Given the description of an element on the screen output the (x, y) to click on. 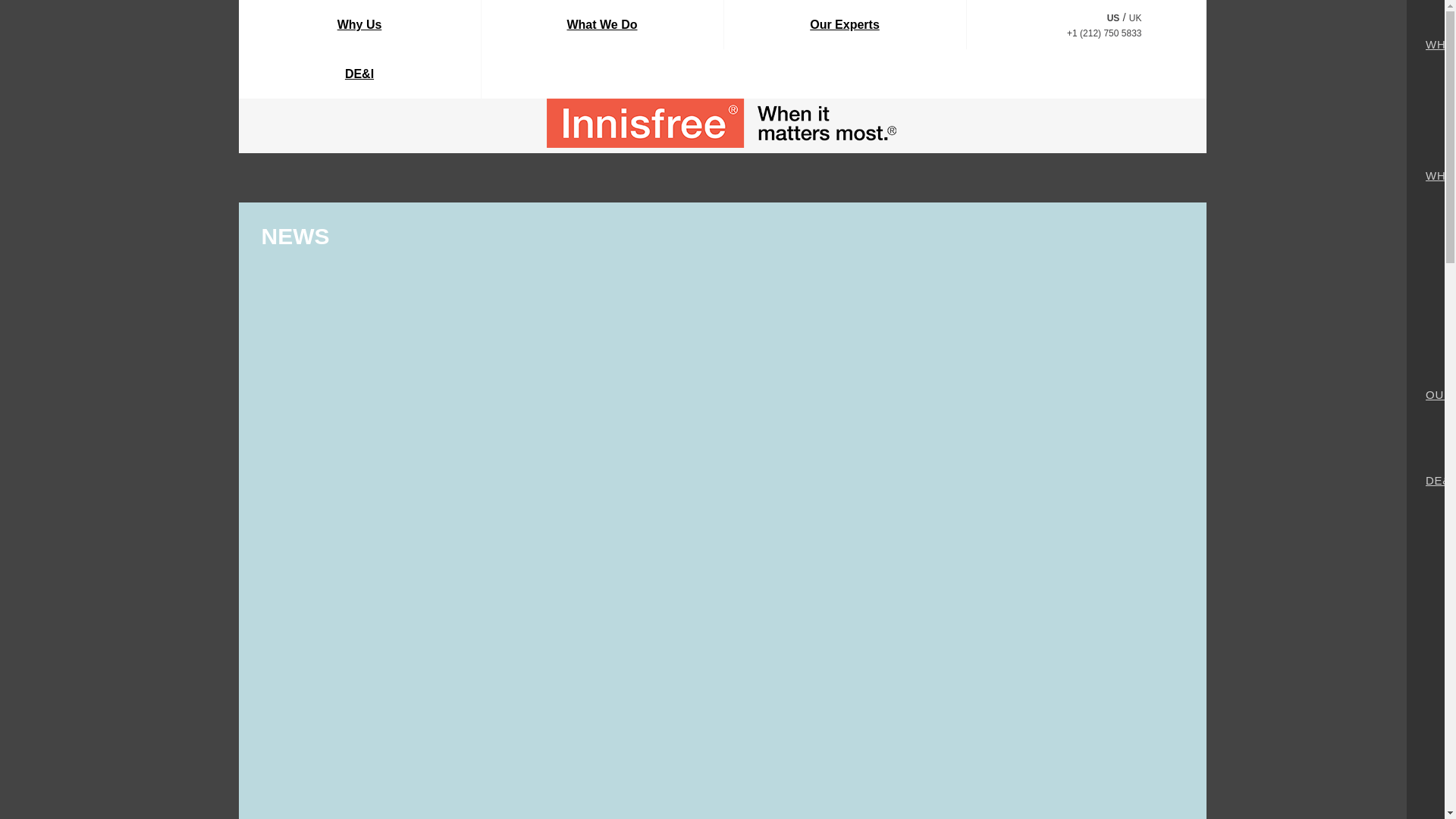
Our Experts (844, 24)
Why Us (359, 24)
What We Do (601, 24)
